Given the description of an element on the screen output the (x, y) to click on. 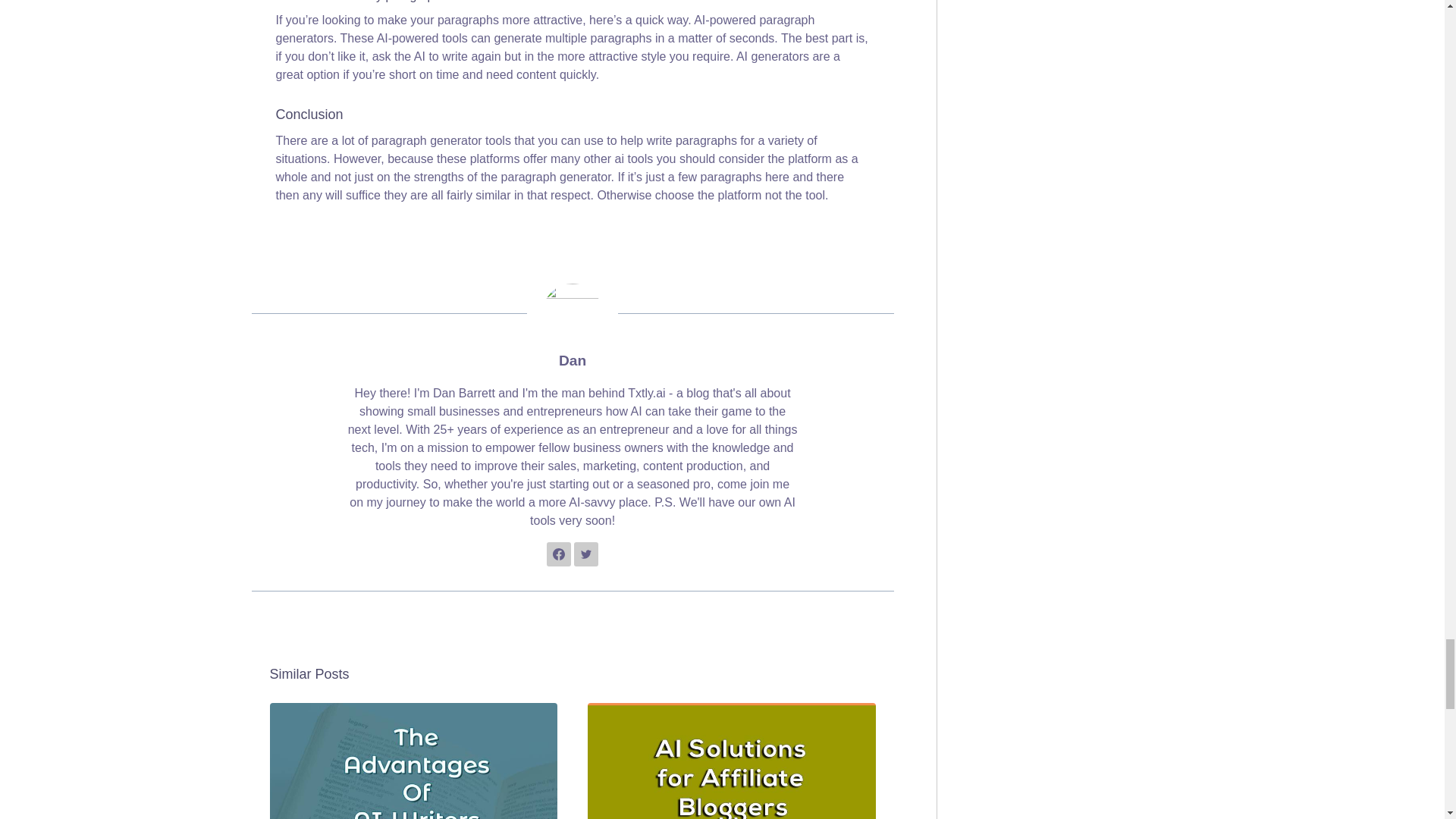
Follow Dan on Twitter (585, 554)
Follow Dan on Facebook (558, 554)
